Given the description of an element on the screen output the (x, y) to click on. 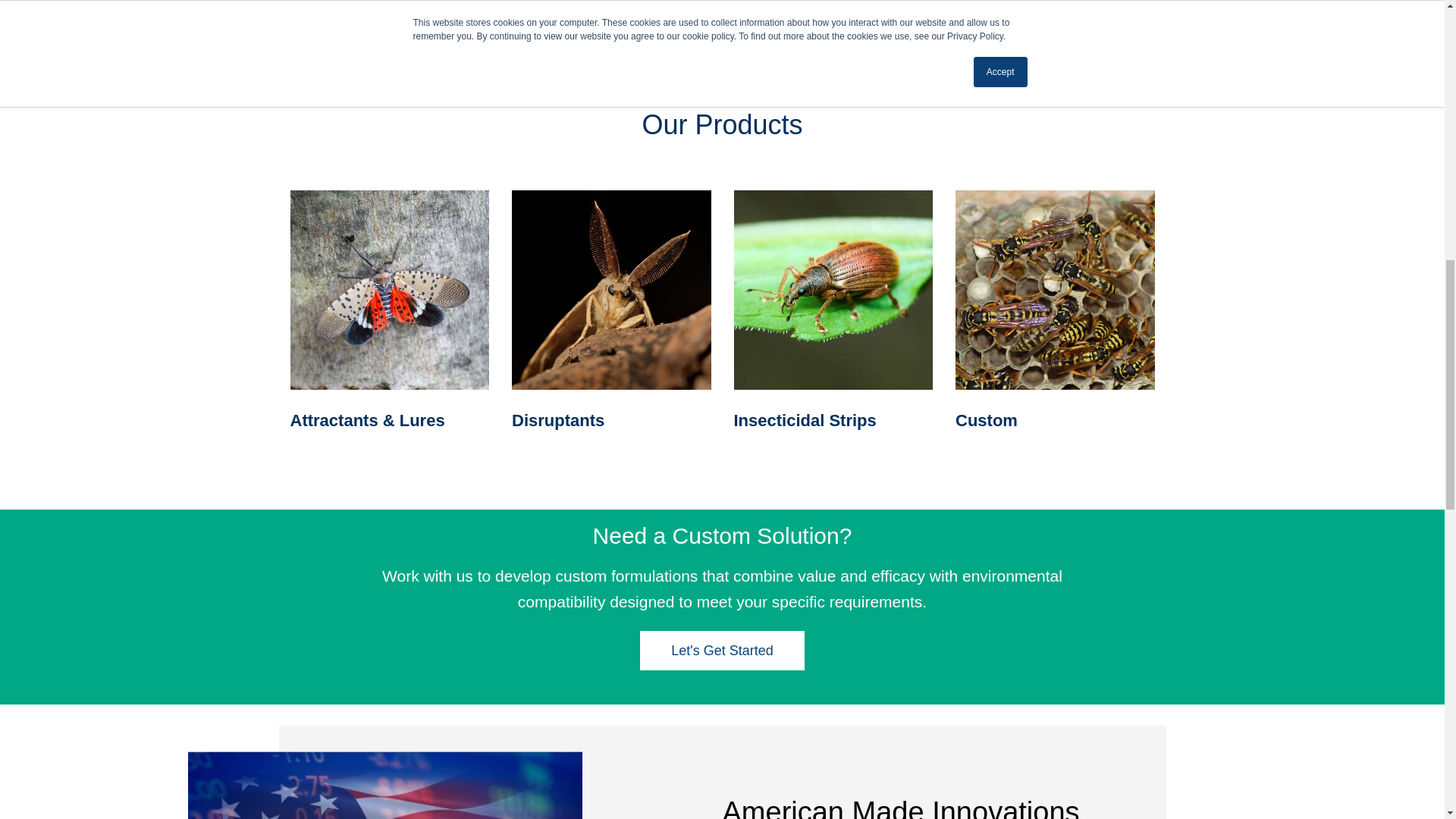
Custom (986, 420)
Our Products (722, 124)
Insecticidal Strips (804, 420)
Disruptants (558, 420)
Let's Get Started (722, 650)
Let's Get Started (722, 650)
